Given the description of an element on the screen output the (x, y) to click on. 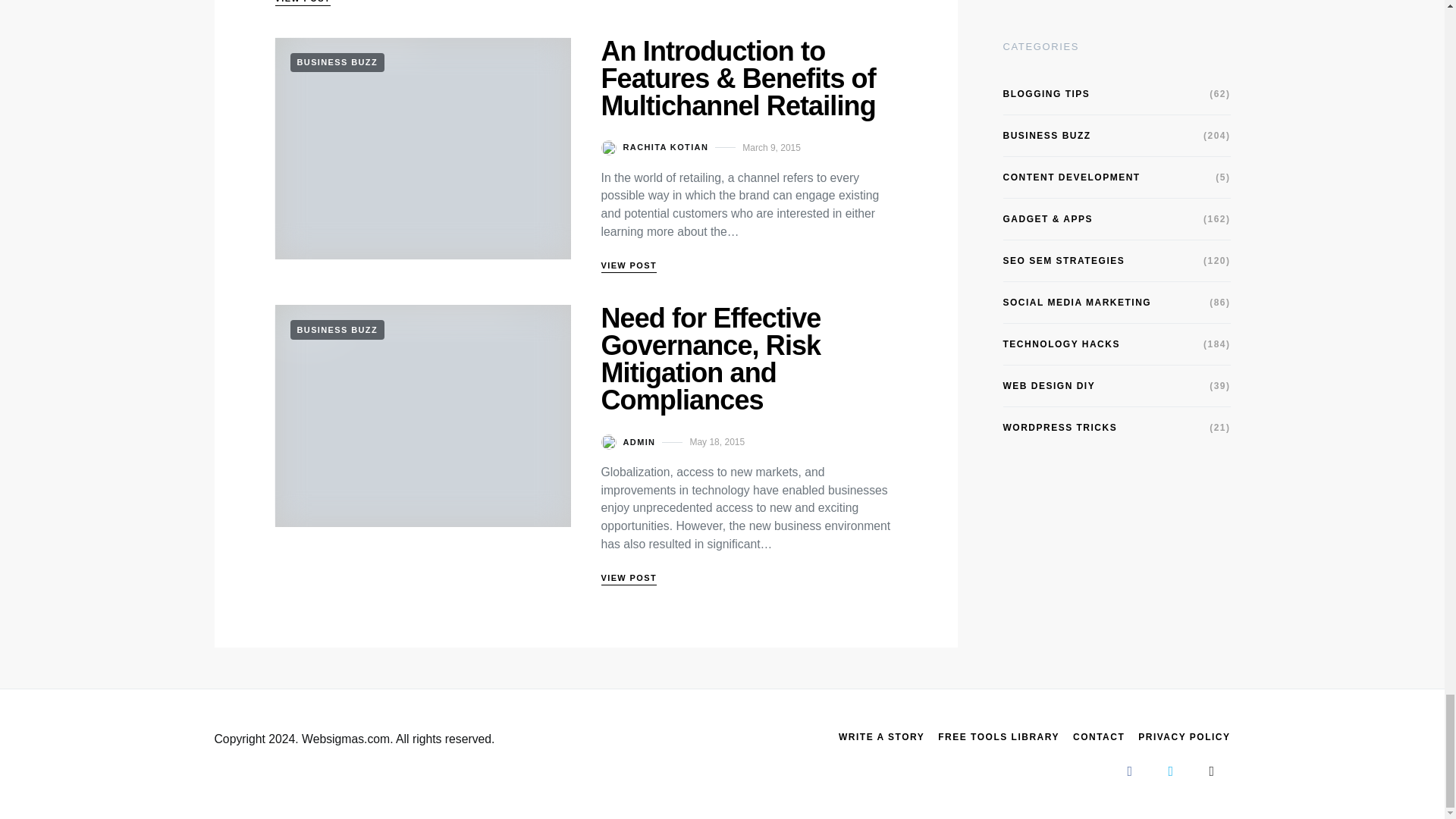
View all posts by Admin (627, 441)
View all posts by Rachita Kotian (653, 147)
